Given the description of an element on the screen output the (x, y) to click on. 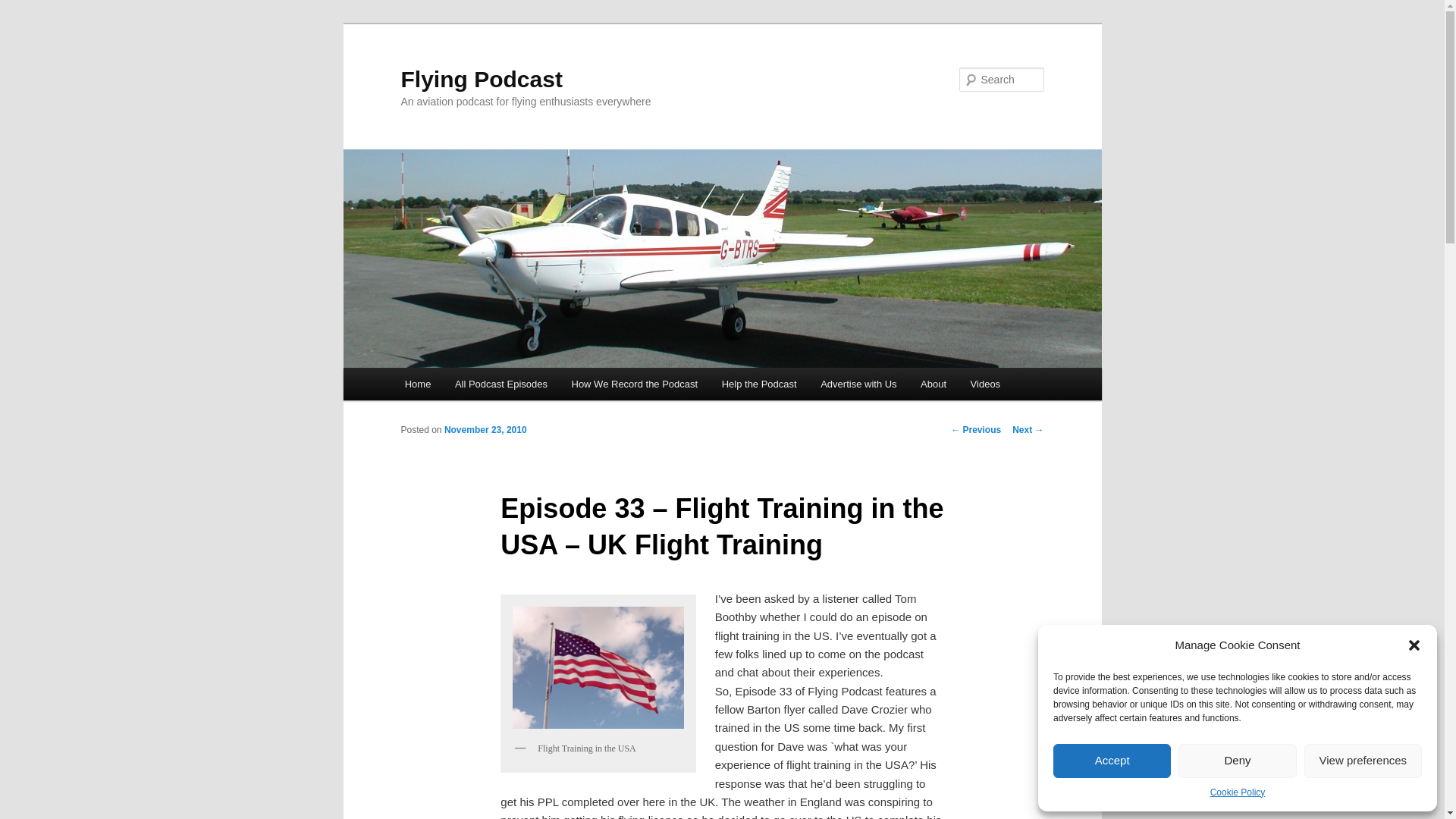
How We Record the Podcast (634, 383)
Cookie Policy (1237, 792)
Deny (1236, 759)
View preferences (1363, 759)
10:16 am (485, 429)
Search (24, 8)
Advertise with Us (858, 383)
Help the Podcast (759, 383)
Home (417, 383)
Flight Training in the USA (597, 667)
Accept (1111, 759)
Videos (984, 383)
Flying Podcast (481, 78)
All Podcast Episodes (500, 383)
